Given the description of an element on the screen output the (x, y) to click on. 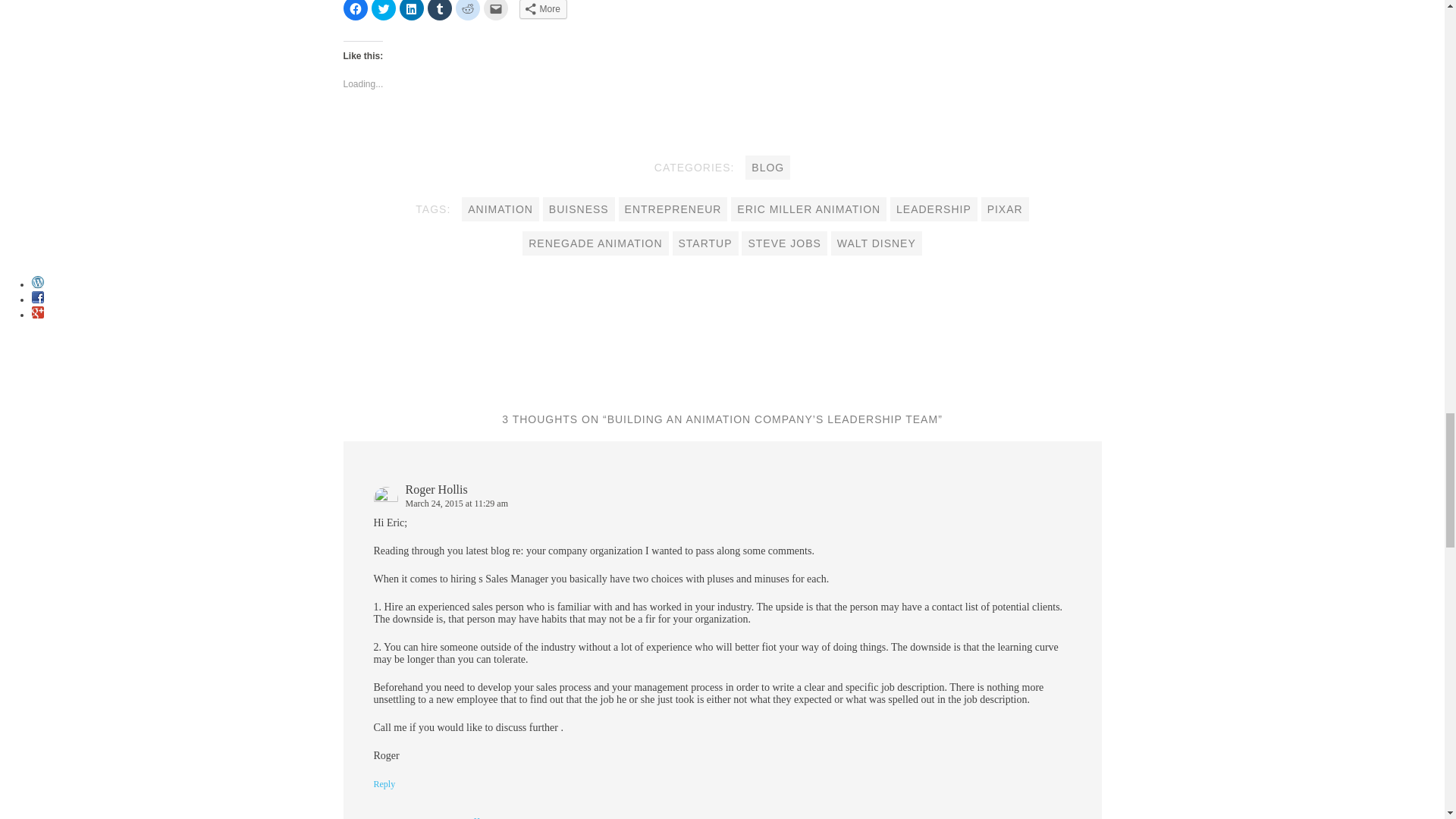
ERIC MILLER ANIMATION (808, 209)
Click to email this to a friend (495, 10)
ANIMATION (499, 209)
Click to share on Tumblr (439, 10)
STEVE JOBS (784, 242)
More (542, 9)
BUISNESS (578, 209)
ENTREPRENEUR (673, 209)
March 24, 2015 at 11:29 am (456, 502)
RENEGADE ANIMATION (595, 242)
Click to share on Reddit (466, 10)
WALT DISNEY (876, 242)
Click to share on Twitter (383, 10)
BLOG (767, 167)
STARTUP (705, 242)
